Given the description of an element on the screen output the (x, y) to click on. 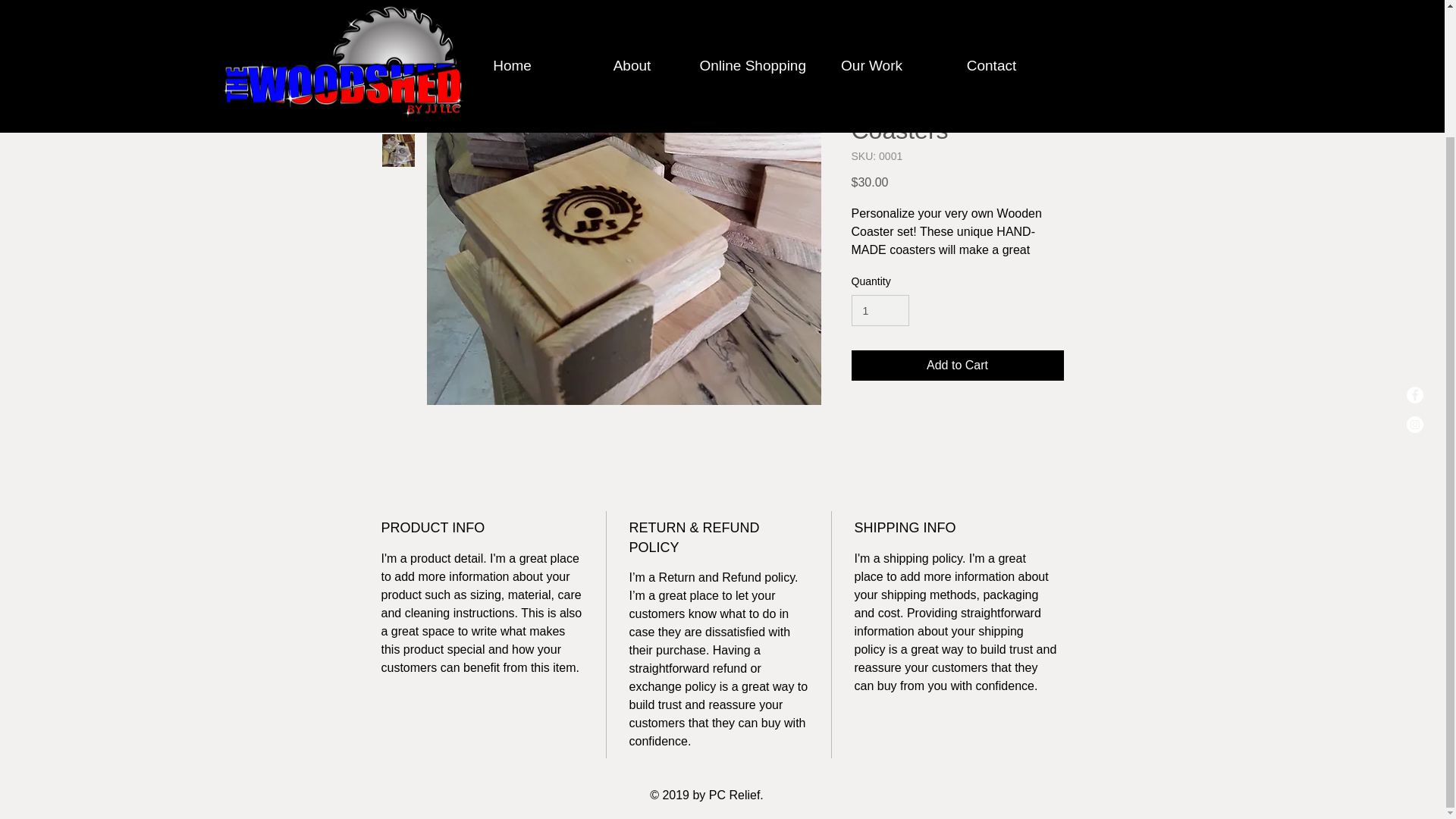
Add to Cart (956, 365)
1 (879, 309)
